Given the description of an element on the screen output the (x, y) to click on. 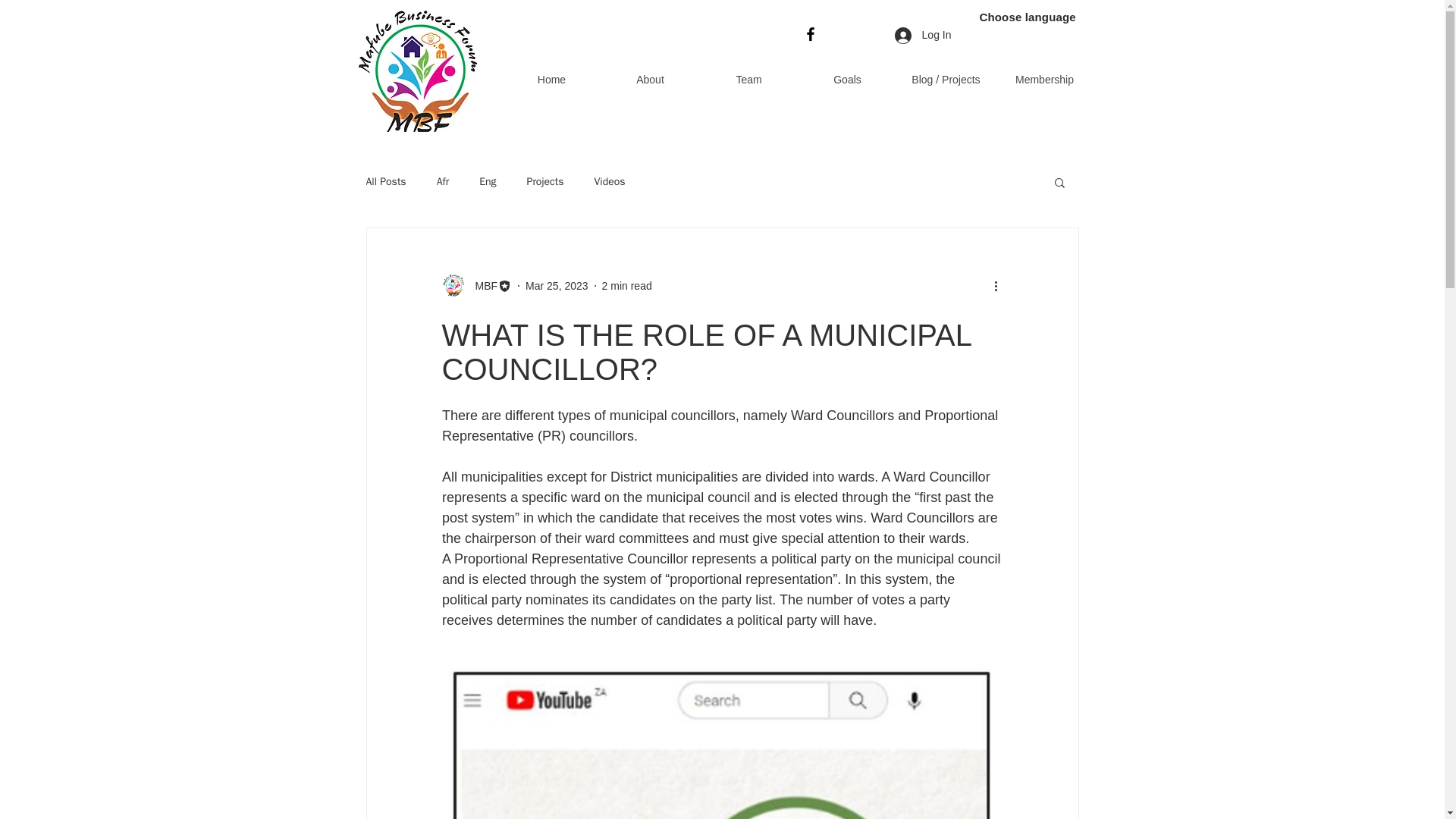
Projects (545, 182)
Home (550, 79)
Team (747, 79)
About (648, 79)
All Posts (385, 182)
Membership (1043, 79)
2 min read (627, 285)
MBF (476, 285)
Videos (609, 182)
MBF (481, 285)
Afr (442, 182)
Mar 25, 2023 (556, 285)
Eng (487, 182)
Log In (922, 35)
Goals (846, 79)
